Given the description of an element on the screen output the (x, y) to click on. 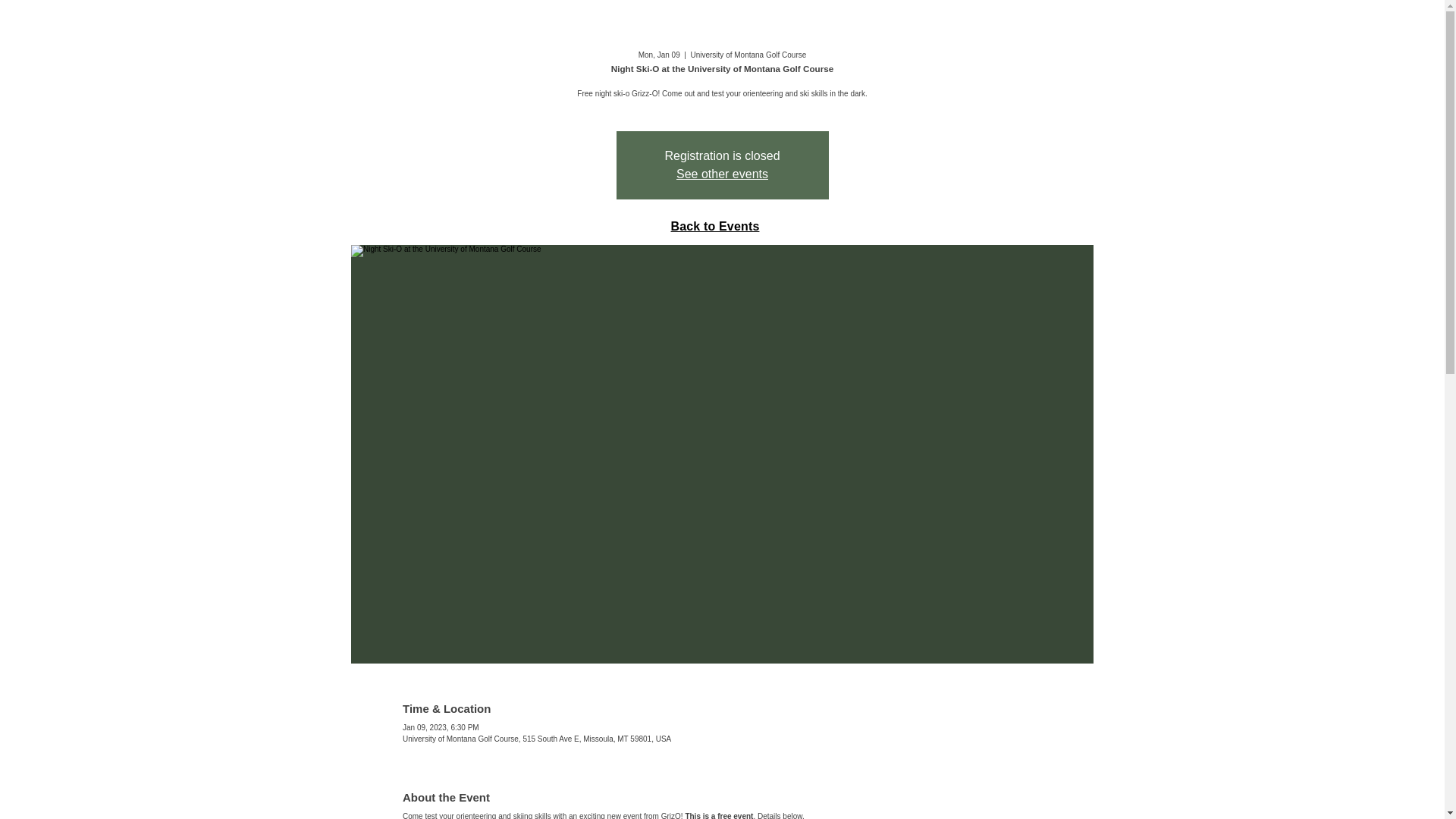
See other events (722, 173)
Back to Events (713, 226)
Return to Home Page (721, 70)
